Given the description of an element on the screen output the (x, y) to click on. 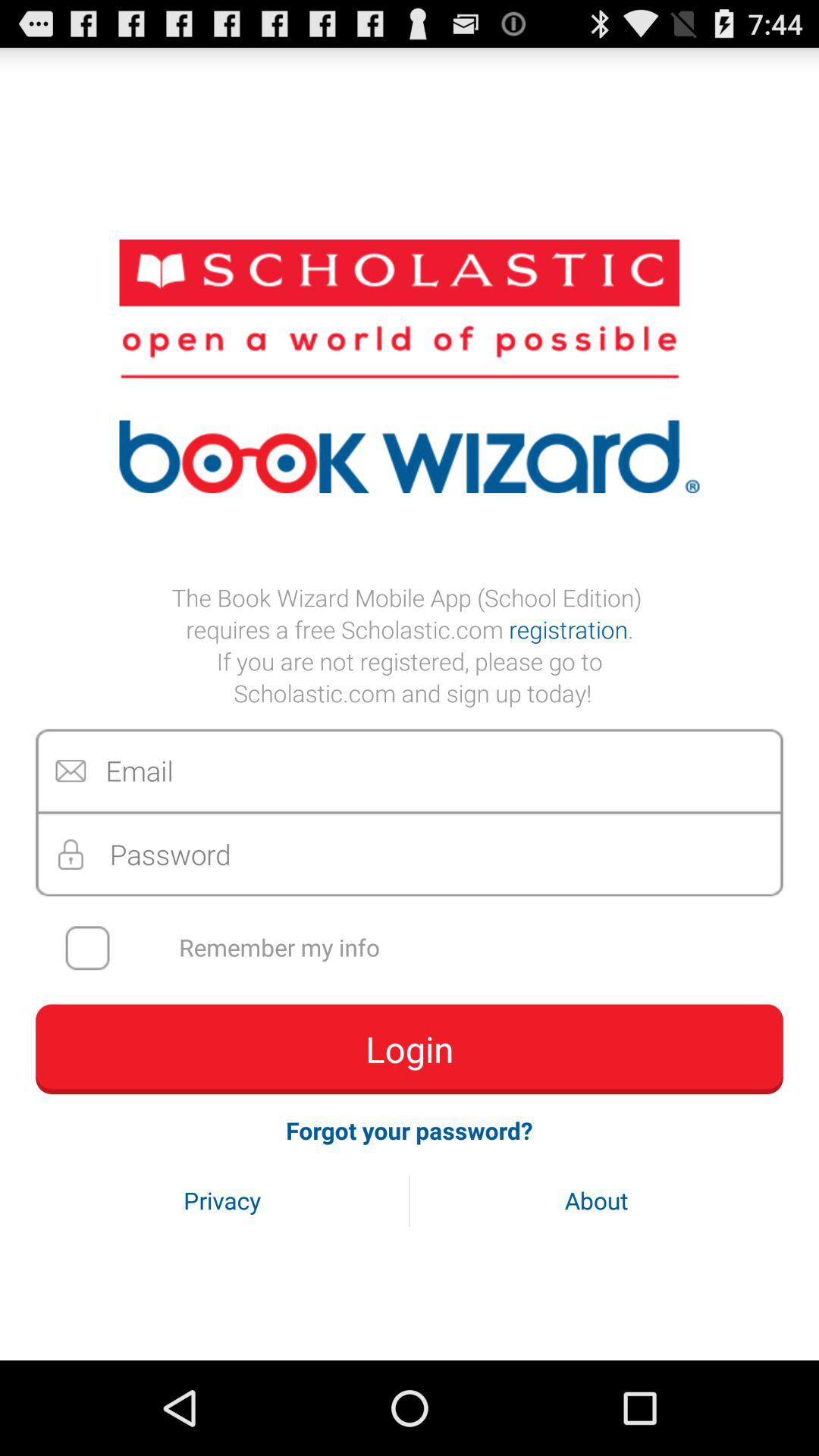
turn off the item at the bottom left corner (221, 1200)
